Given the description of an element on the screen output the (x, y) to click on. 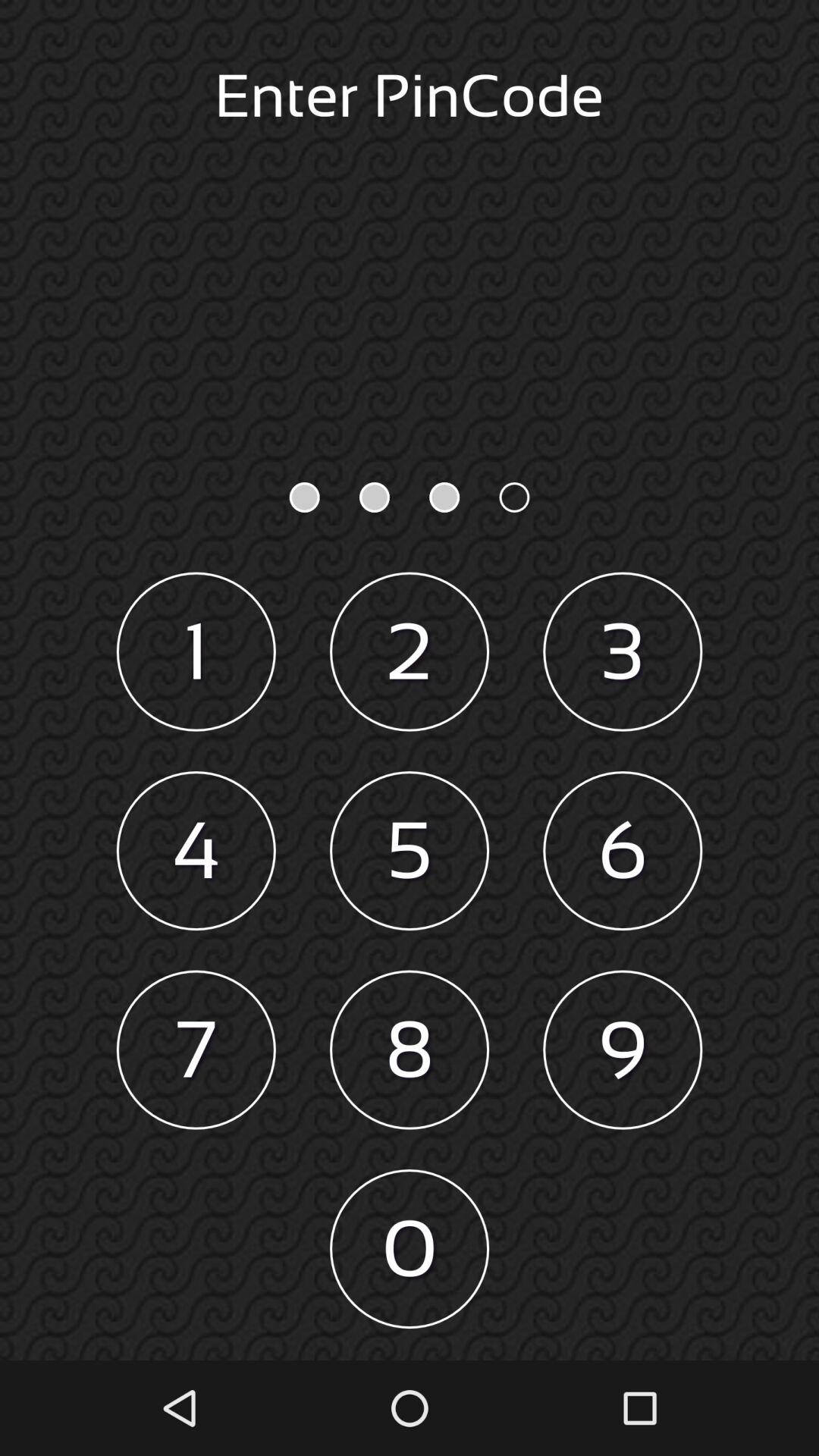
press 6 item (622, 850)
